Given the description of an element on the screen output the (x, y) to click on. 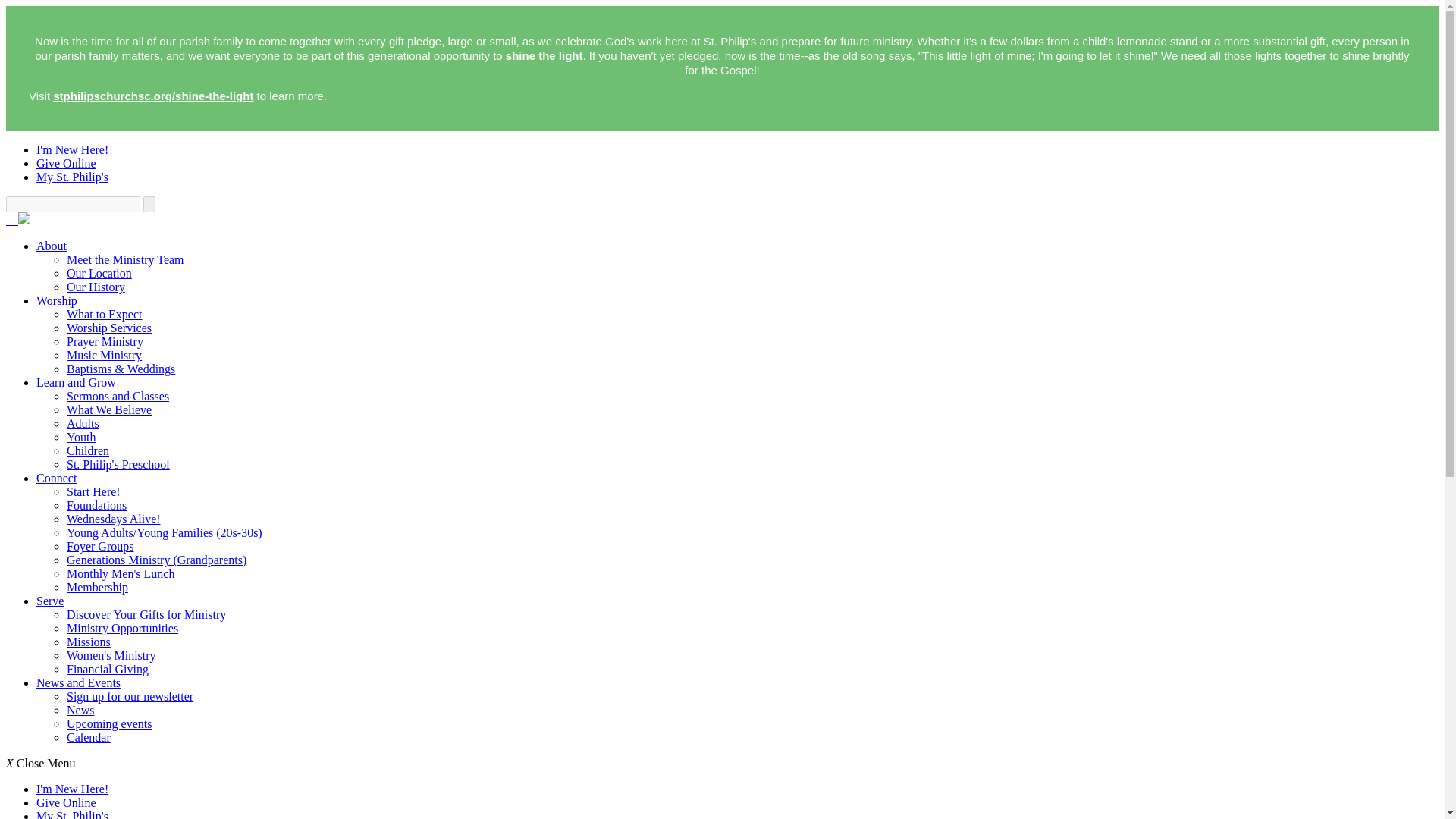
My St. Philip's (71, 176)
Serve (50, 600)
Meet the Ministry Team (125, 259)
Worship Services (108, 327)
Discover Your Gifts for Ministry (145, 614)
Give Online (66, 163)
Prayer Ministry (104, 341)
I'm New Here! (71, 149)
Youth (81, 436)
Sign up for our newsletter (129, 696)
St. Philip's Preschool (118, 463)
Foyer Groups (99, 545)
Sermons and Classes (117, 395)
Our History (95, 286)
